Given the description of an element on the screen output the (x, y) to click on. 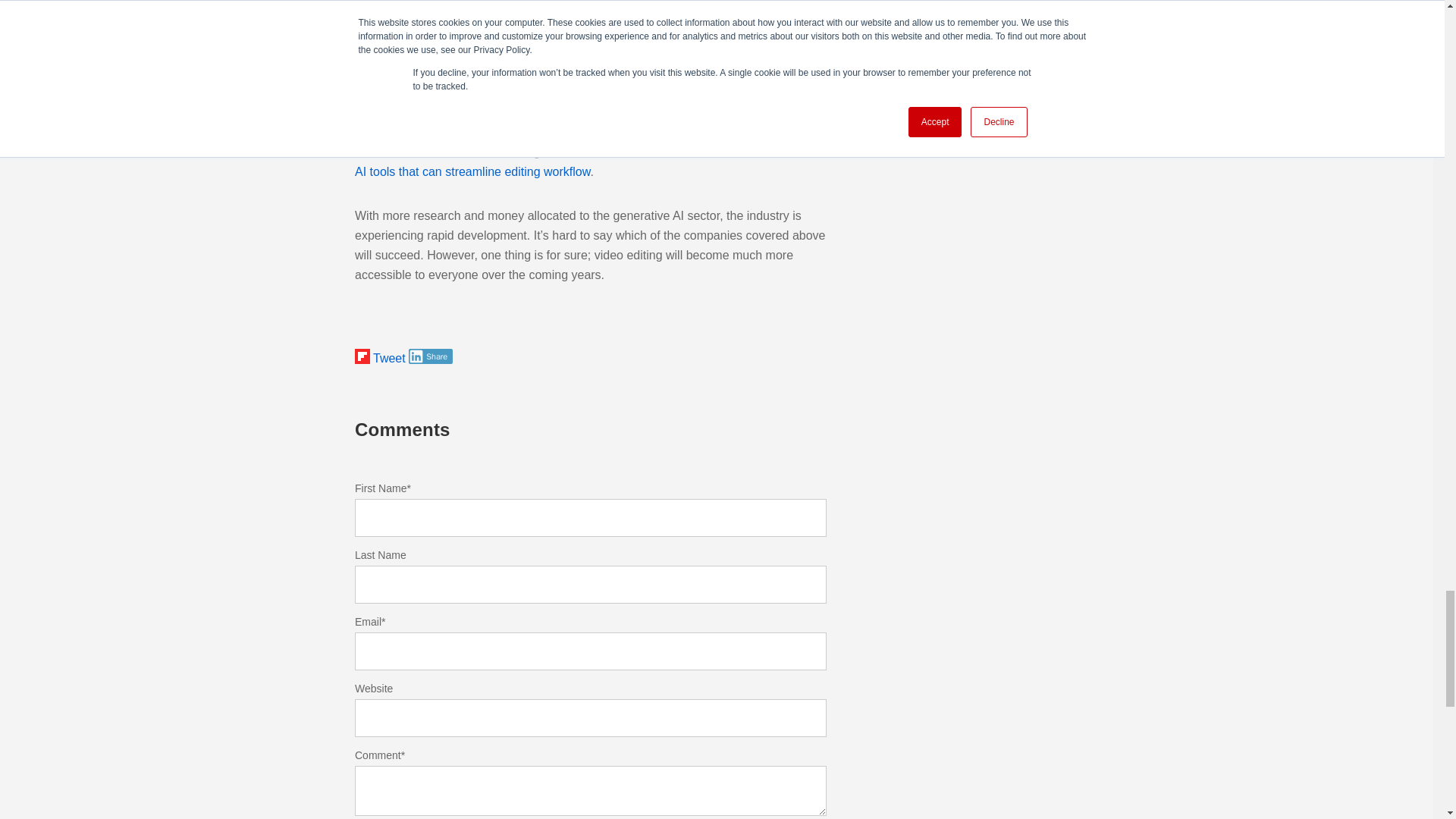
Share (430, 355)
AI tools that can streamline editing workflow (472, 171)
Tweet (389, 358)
